Given the description of an element on the screen output the (x, y) to click on. 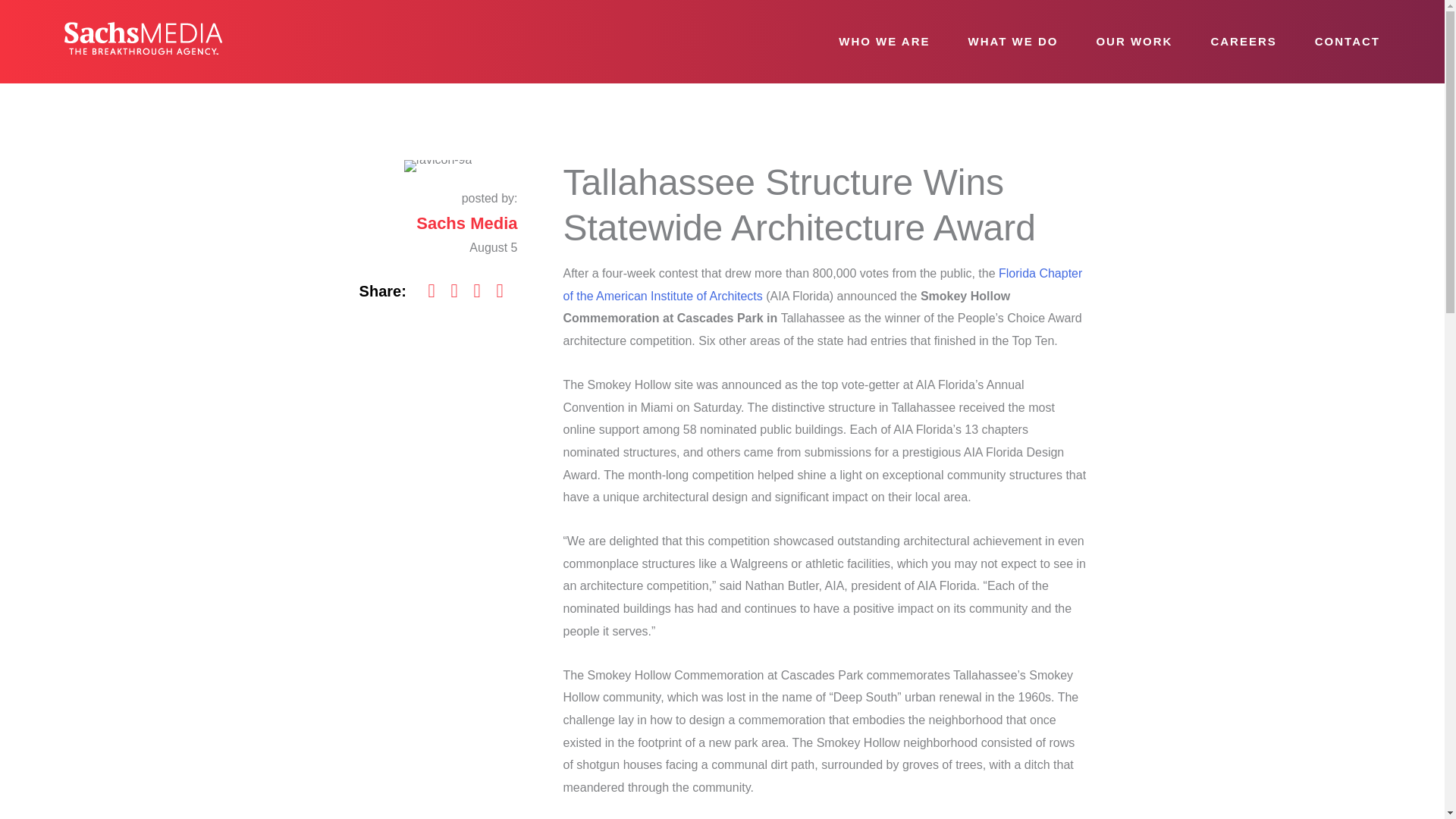
CAREERS (1243, 41)
WHAT WE DO (1013, 41)
WHO WE ARE (884, 41)
CONTACT (1347, 41)
OUR WORK (1134, 41)
favicon-9a (437, 165)
Florida Chapter of the American Institute of Architects (821, 284)
